Given the description of an element on the screen output the (x, y) to click on. 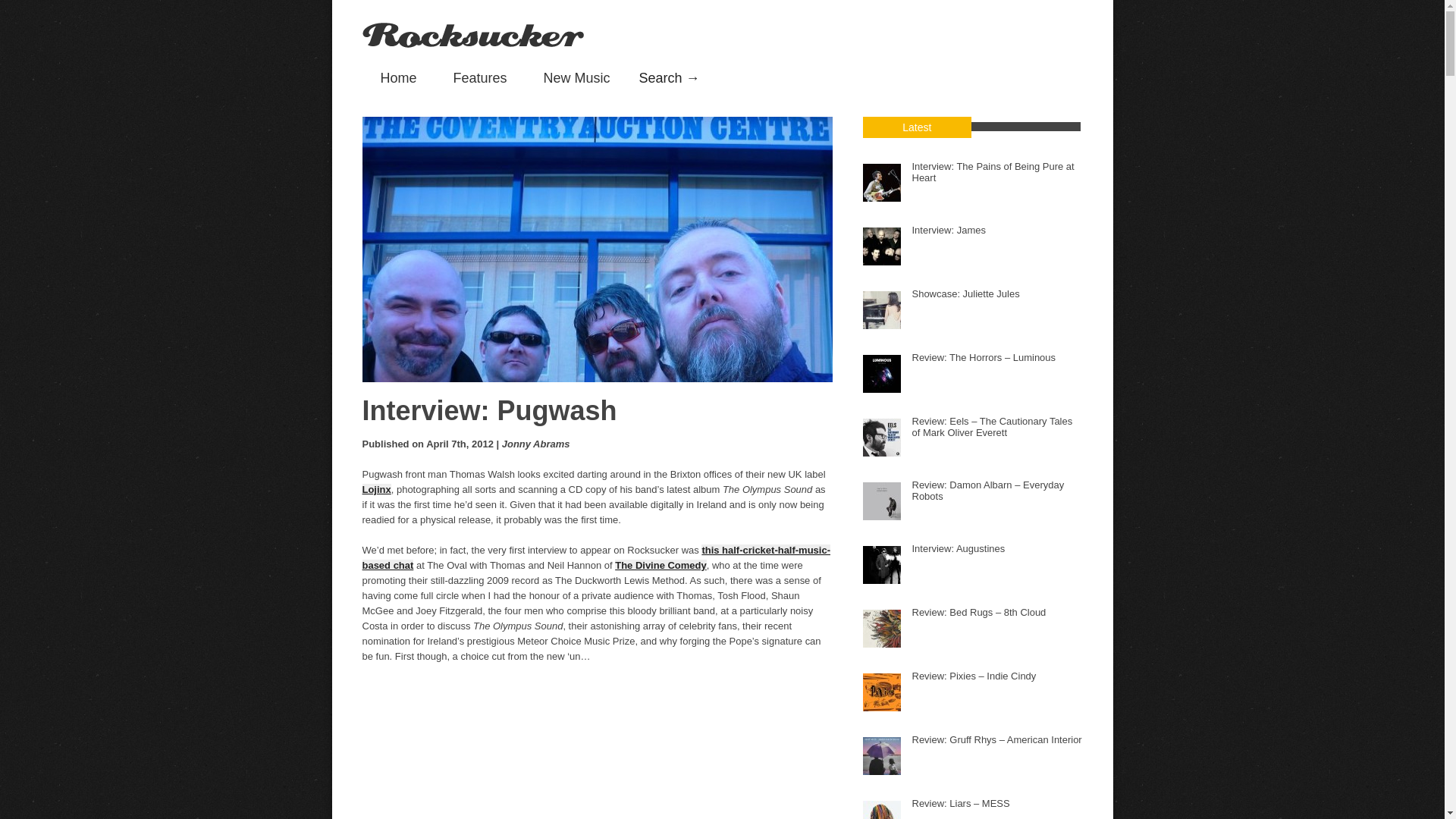
Lojinx (376, 489)
Discover new acts (576, 78)
Featured music interviews (480, 78)
The Divine Comedy (660, 564)
Home (398, 78)
Interview: The Pains of Being Pure at Heart (992, 172)
Showcase: Juliette Jules (965, 294)
Interview: James (948, 230)
Latest (917, 127)
New Music (576, 78)
this half-cricket-half-music-based chat (595, 557)
Features (480, 78)
